Given the description of an element on the screen output the (x, y) to click on. 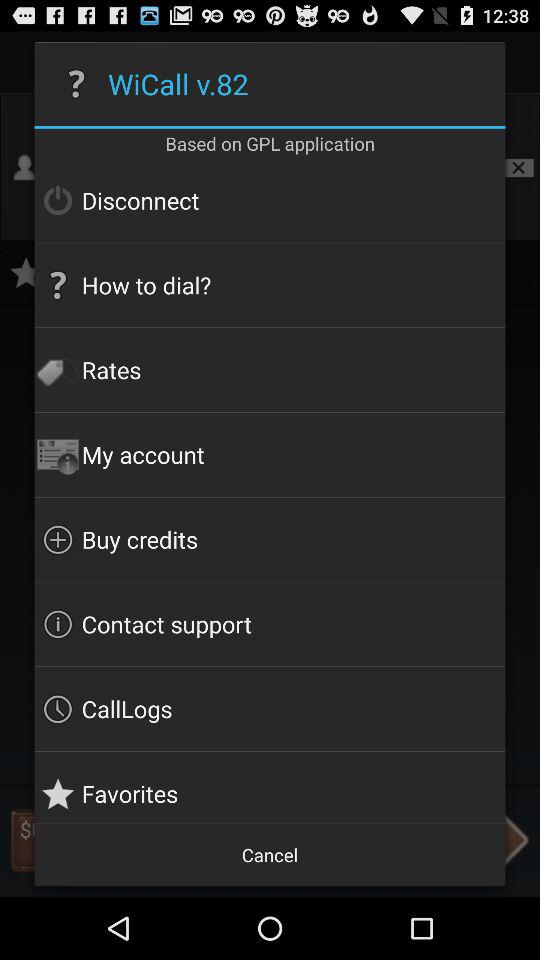
swipe until the disconnect (269, 200)
